Given the description of an element on the screen output the (x, y) to click on. 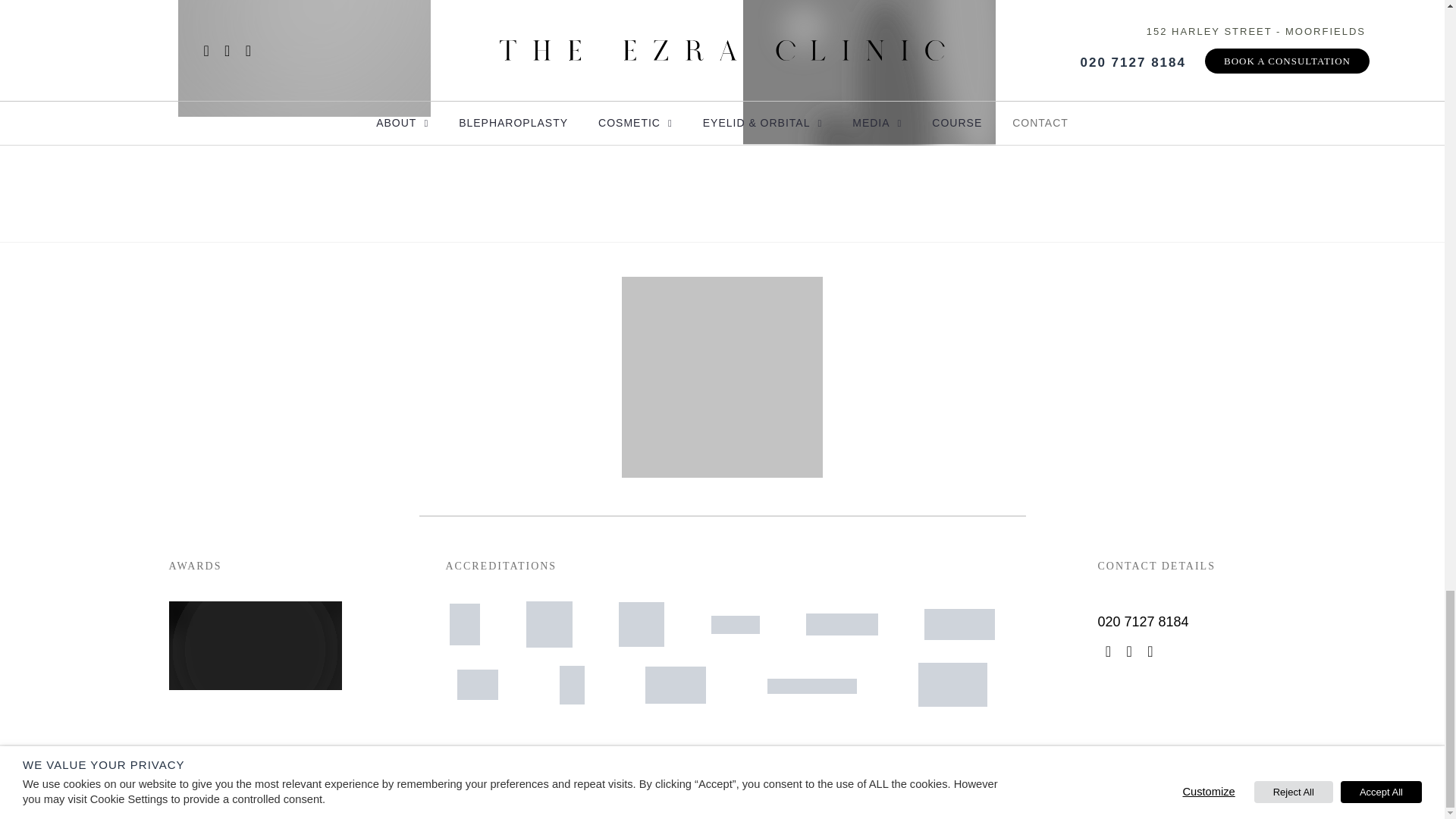
email (1150, 651)
Instagram (1108, 651)
